Given the description of an element on the screen output the (x, y) to click on. 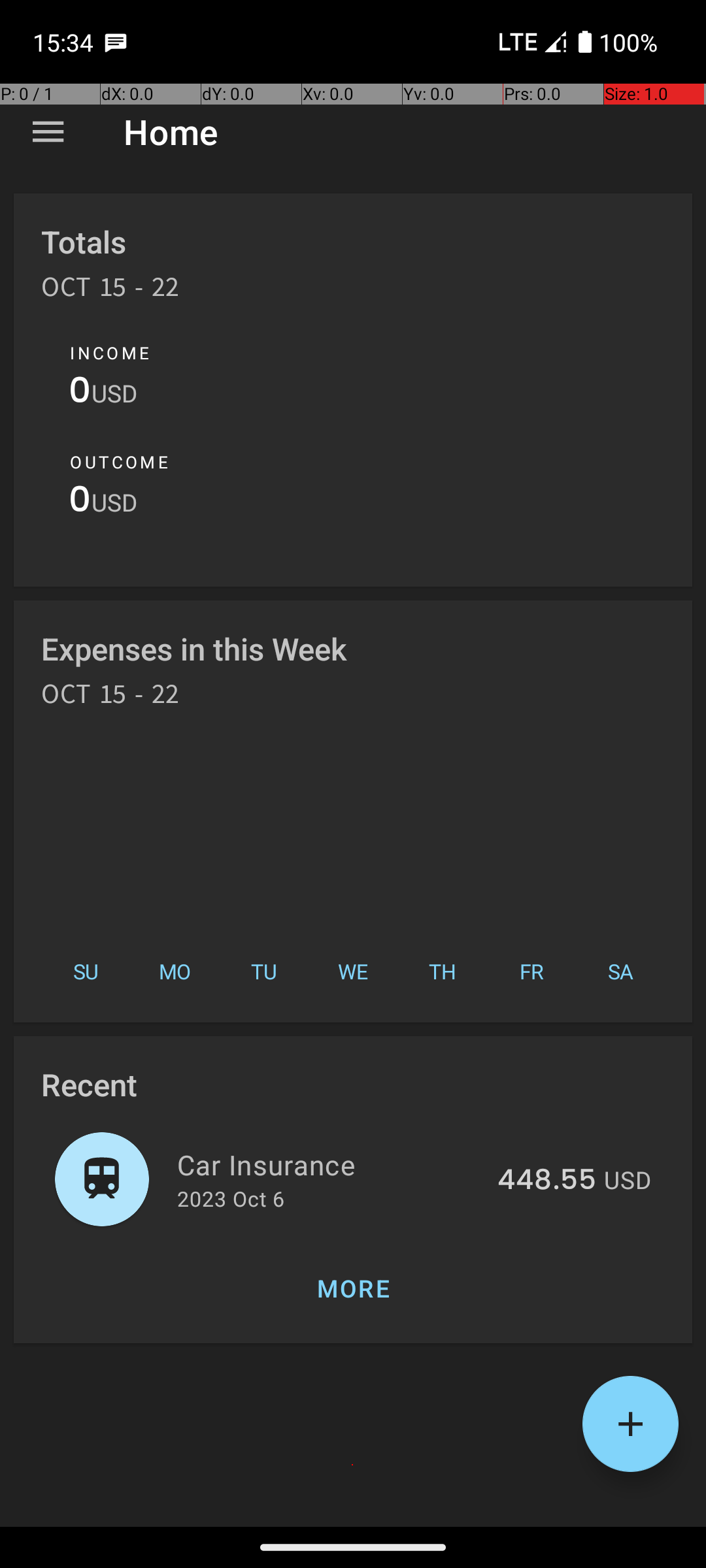
Car Insurance Element type: android.widget.TextView (329, 1164)
2023 Oct 6 Element type: android.widget.TextView (230, 1198)
448.55 Element type: android.widget.TextView (546, 1180)
